Given the description of an element on the screen output the (x, y) to click on. 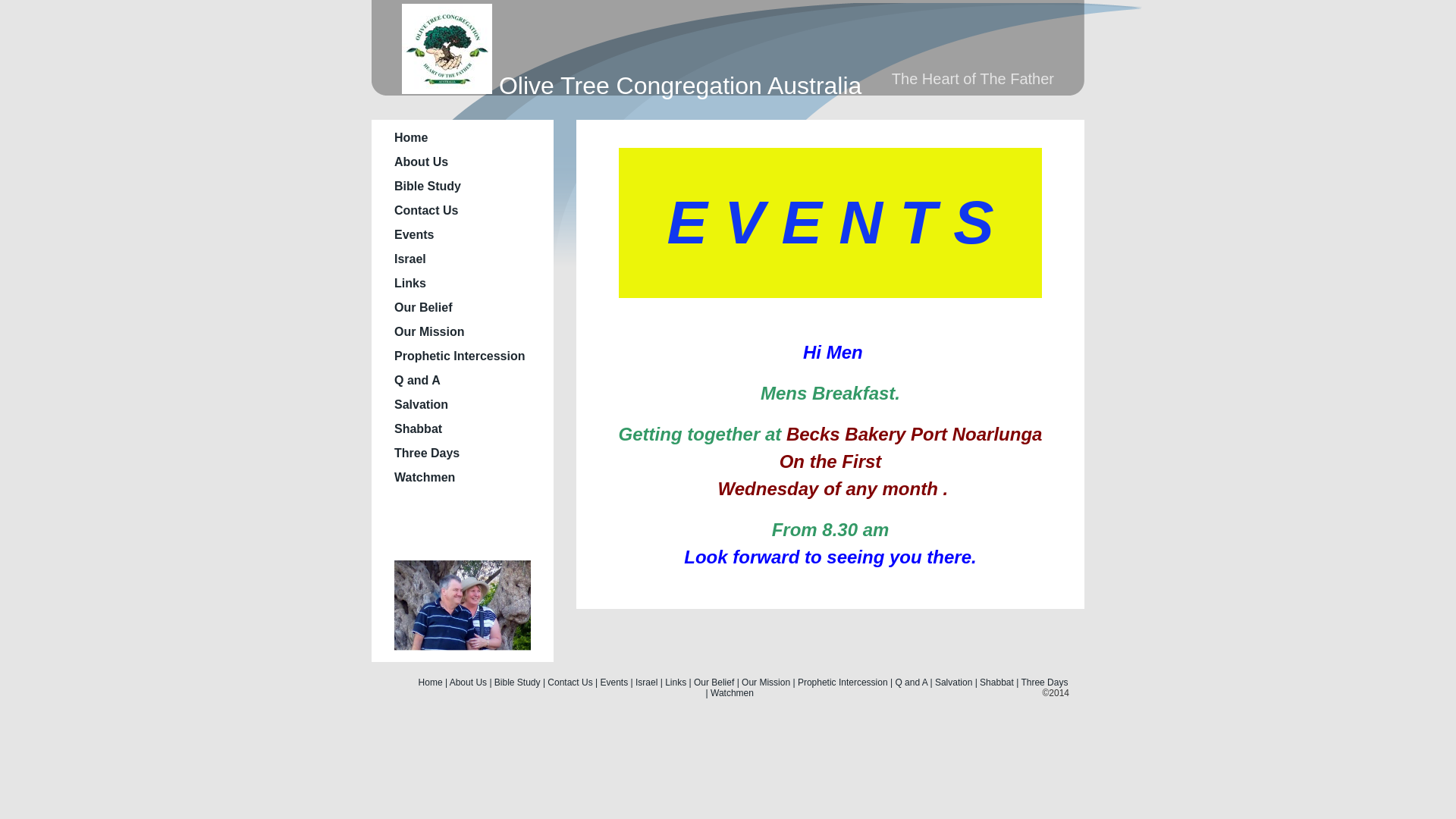
Contact Us Element type: text (426, 209)
Contact Us Element type: text (569, 682)
Q and A Element type: text (417, 379)
Three Days Element type: text (1043, 682)
Q and A Element type: text (910, 682)
Three Days Element type: text (426, 452)
Shabbat Element type: text (418, 428)
Salvation Element type: text (421, 404)
Links Element type: text (410, 282)
Links Element type: text (675, 682)
Bible Study Element type: text (517, 682)
Home Element type: text (410, 137)
Shabbat Element type: text (996, 682)
Events Element type: text (614, 682)
Our Belief Element type: text (422, 307)
Watchmen Element type: text (424, 476)
Events Element type: text (413, 234)
About Us Element type: text (421, 161)
Our Mission Element type: text (765, 682)
Home Element type: text (430, 682)
About Us Element type: text (467, 682)
Israel Element type: text (410, 258)
 Olive Tree Congregation Australia Element type: text (631, 85)
Watchmen Element type: text (731, 692)
Bible Study Element type: text (427, 185)
Our Belief Element type: text (713, 682)
Salvation Element type: text (953, 682)
Israel Element type: text (646, 682)
Prophetic Intercession Element type: text (842, 682)
Prophetic Intercession Element type: text (459, 355)
Our Mission Element type: text (429, 331)
